Given the description of an element on the screen output the (x, y) to click on. 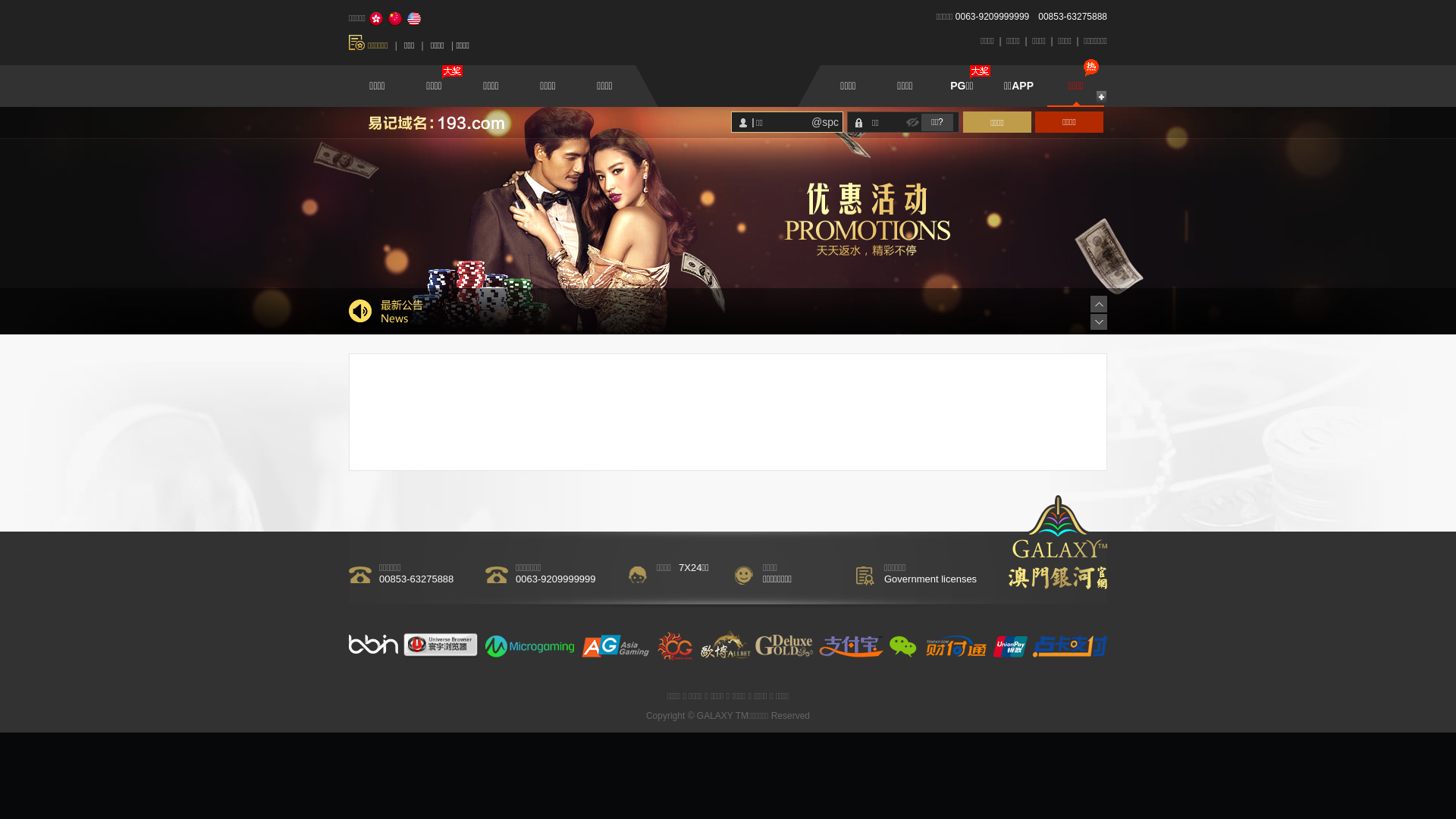
English Element type: hover (413, 18)
